Given the description of an element on the screen output the (x, y) to click on. 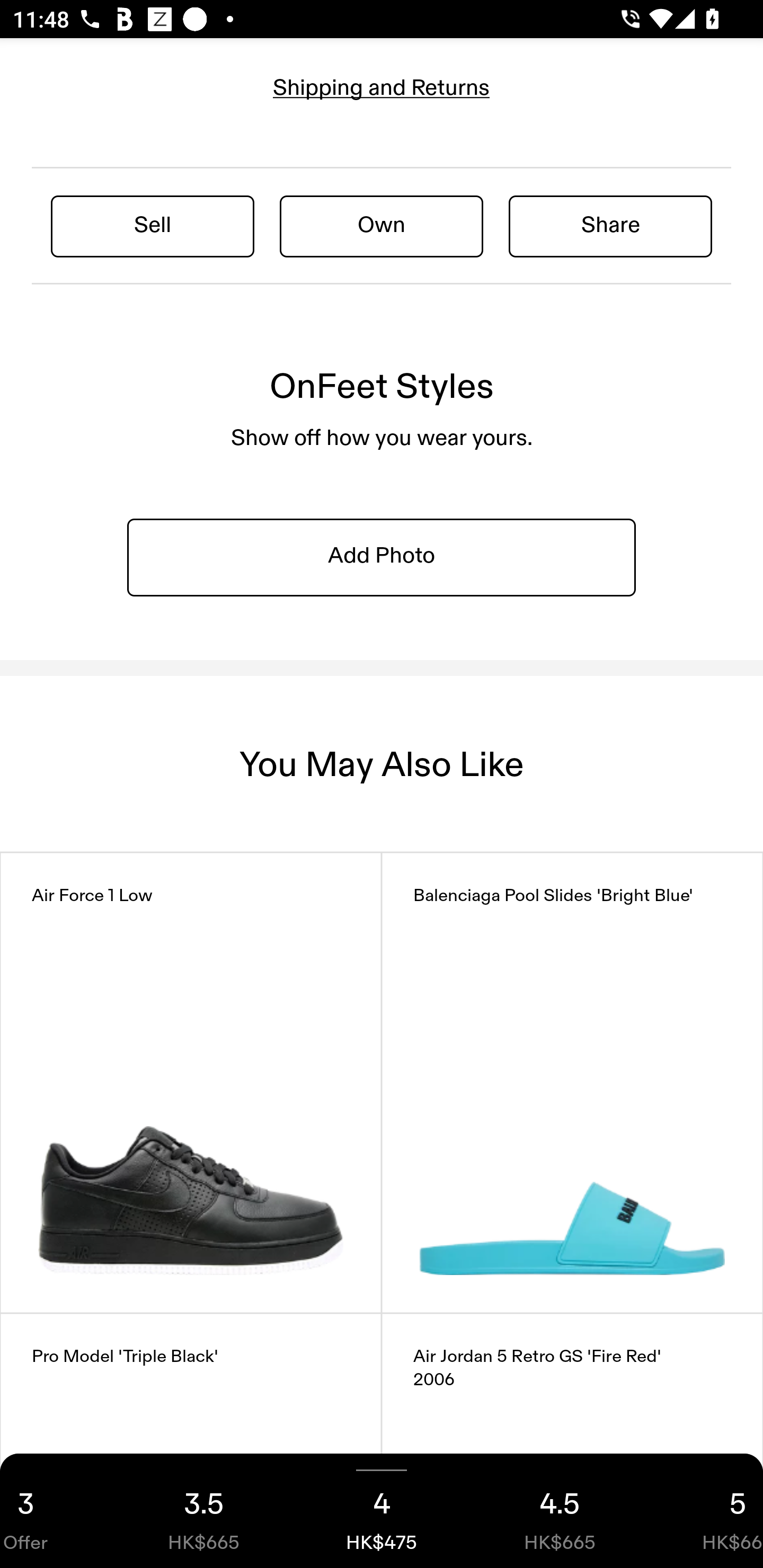
Shipping and Returns (381, 88)
Sell (152, 225)
Own (381, 225)
Share (609, 225)
Add Photo (381, 556)
Air Force 1 Low (190, 1082)
Balenciaga Pool Slides 'Bright Blue' (572, 1082)
Pro Model 'Triple Black' (190, 1440)
Air Jordan 5 Retro GS 'Fire Red' 2006 (572, 1440)
3 Offer (57, 1510)
3.5 HK$665 (203, 1510)
4 HK$475 (381, 1510)
4.5 HK$665 (559, 1510)
5 HK$665 (705, 1510)
